Given the description of an element on the screen output the (x, y) to click on. 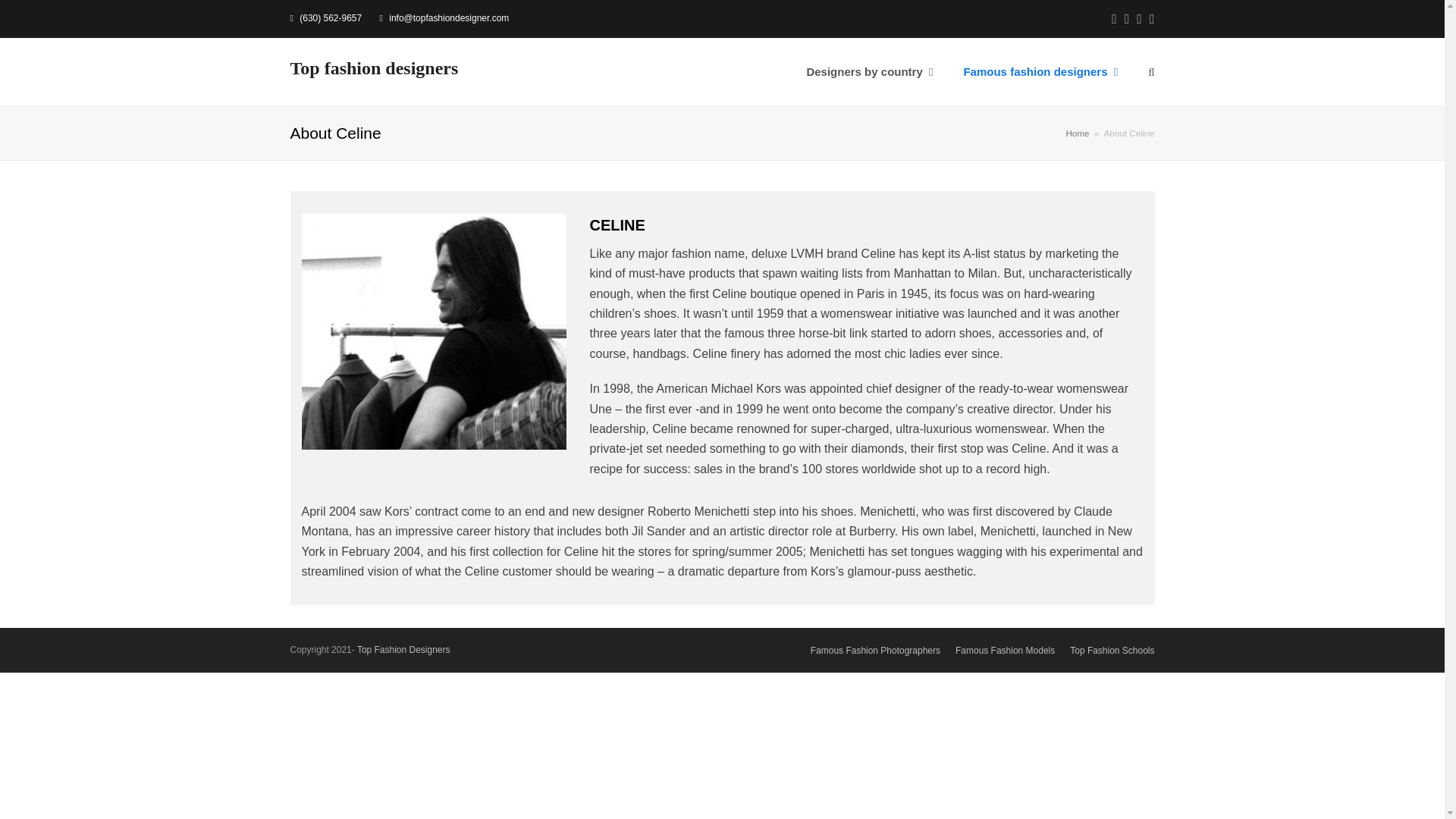
Top fashion designers (373, 67)
Designers by country (868, 72)
Famous fashion designers (1040, 72)
